Given the description of an element on the screen output the (x, y) to click on. 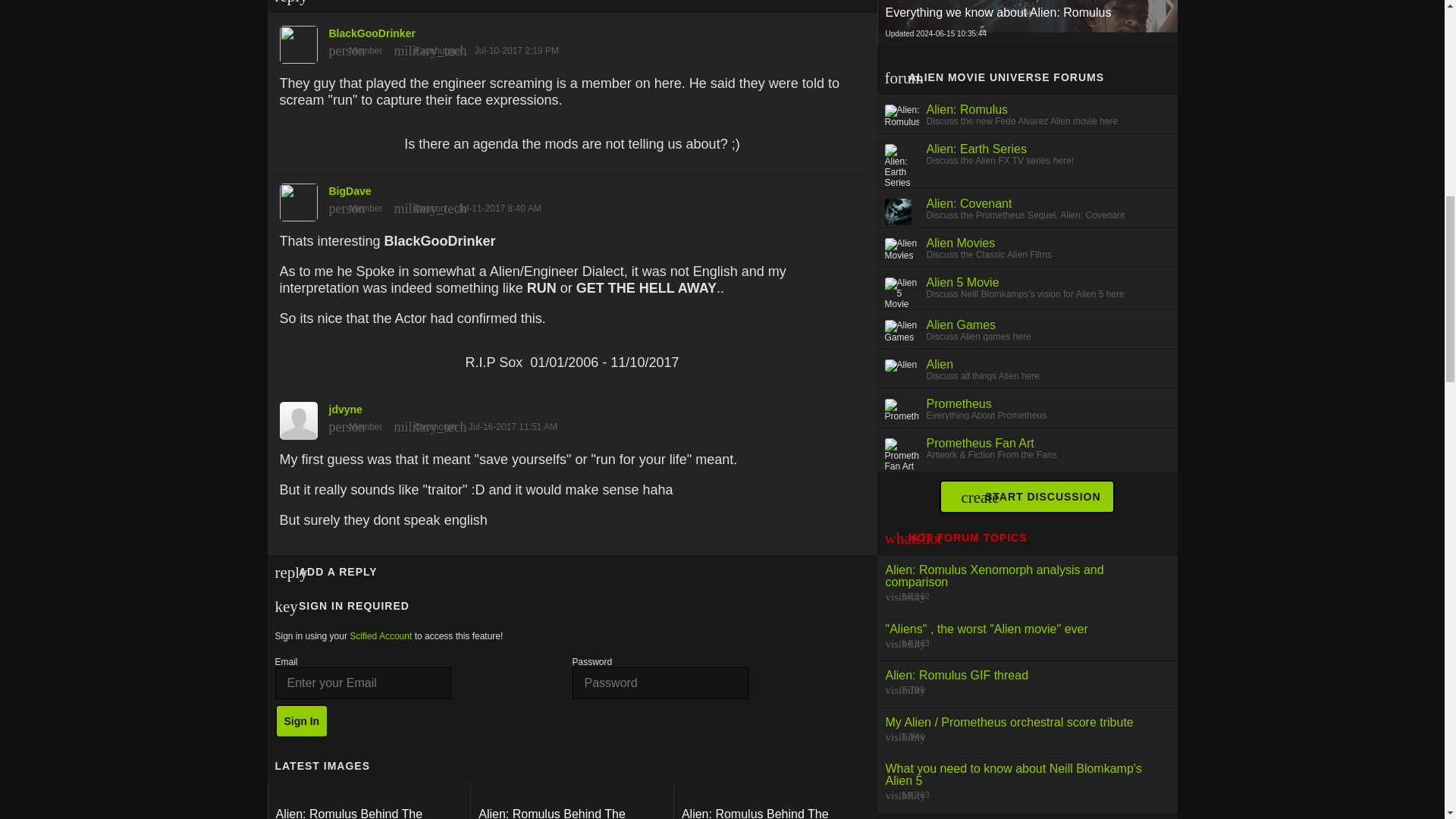
jdvyne (571, 417)
BlackGooDrinker (571, 40)
BigDave (571, 198)
Scified Account (380, 635)
START DISCUSSION (1030, 496)
Alien (939, 364)
Alien: Covenant (968, 203)
Alien: Romulus Behind The Scenes (775, 809)
Prometheus (958, 403)
